Given the description of an element on the screen output the (x, y) to click on. 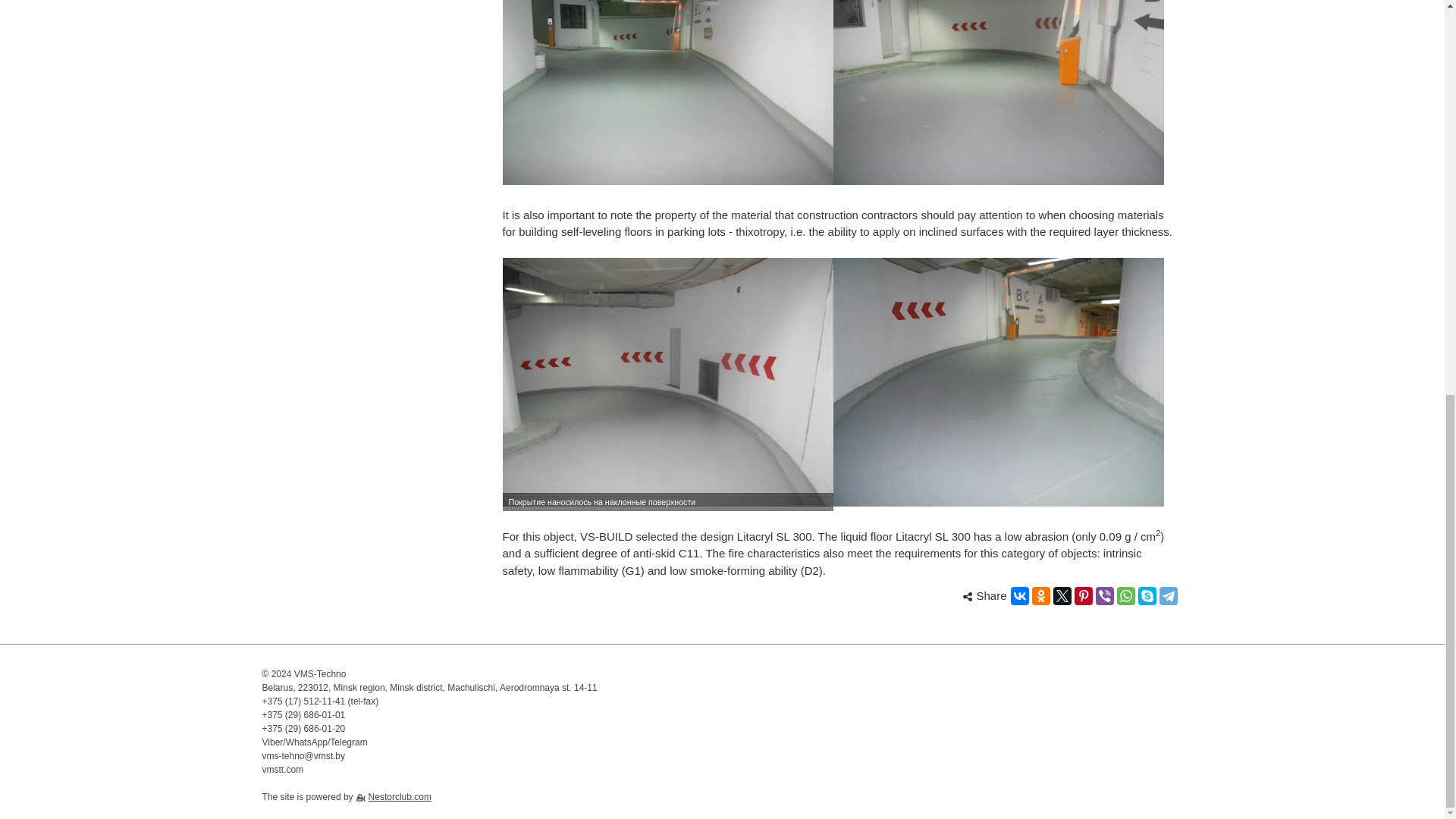
Telegram (1167, 596)
Twitter (1061, 596)
Skype (1146, 596)
WhatsApp (1125, 596)
Viber (1103, 596)
Pinterest (1083, 596)
